Given the description of an element on the screen output the (x, y) to click on. 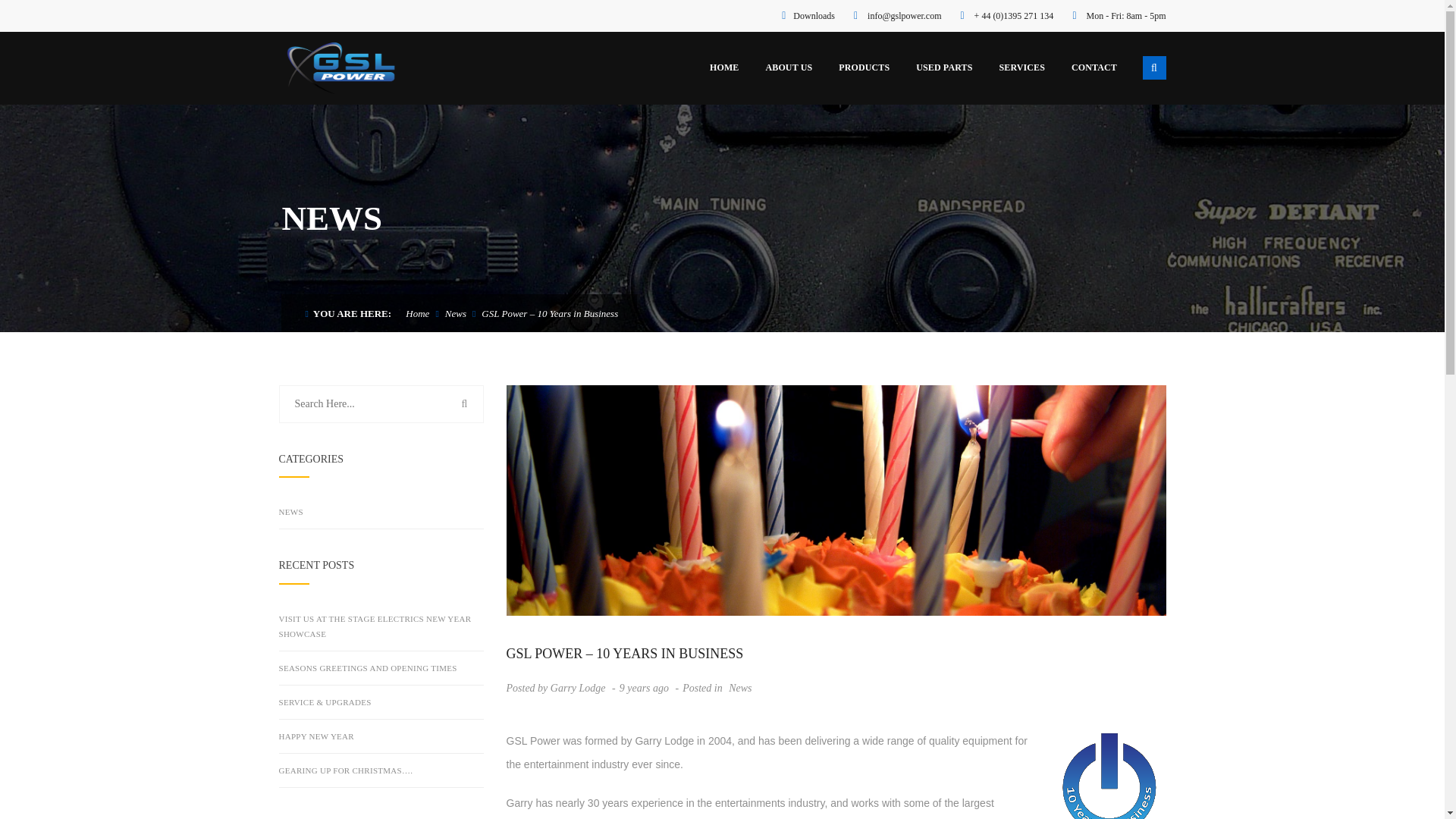
SEASONS GREETINGS AND OPENING TIMES (368, 667)
Home (417, 313)
GSL Power Ltd - Power Distribution Specialists (341, 66)
News (455, 313)
Downloads (813, 15)
Posted by Garry Lodge (555, 687)
VISIT US AT THE STAGE ELECTRICS NEW YEAR SHOWCASE (381, 625)
HAPPY NEW YEAR (316, 735)
9 years ago (645, 687)
News (738, 687)
